Given the description of an element on the screen output the (x, y) to click on. 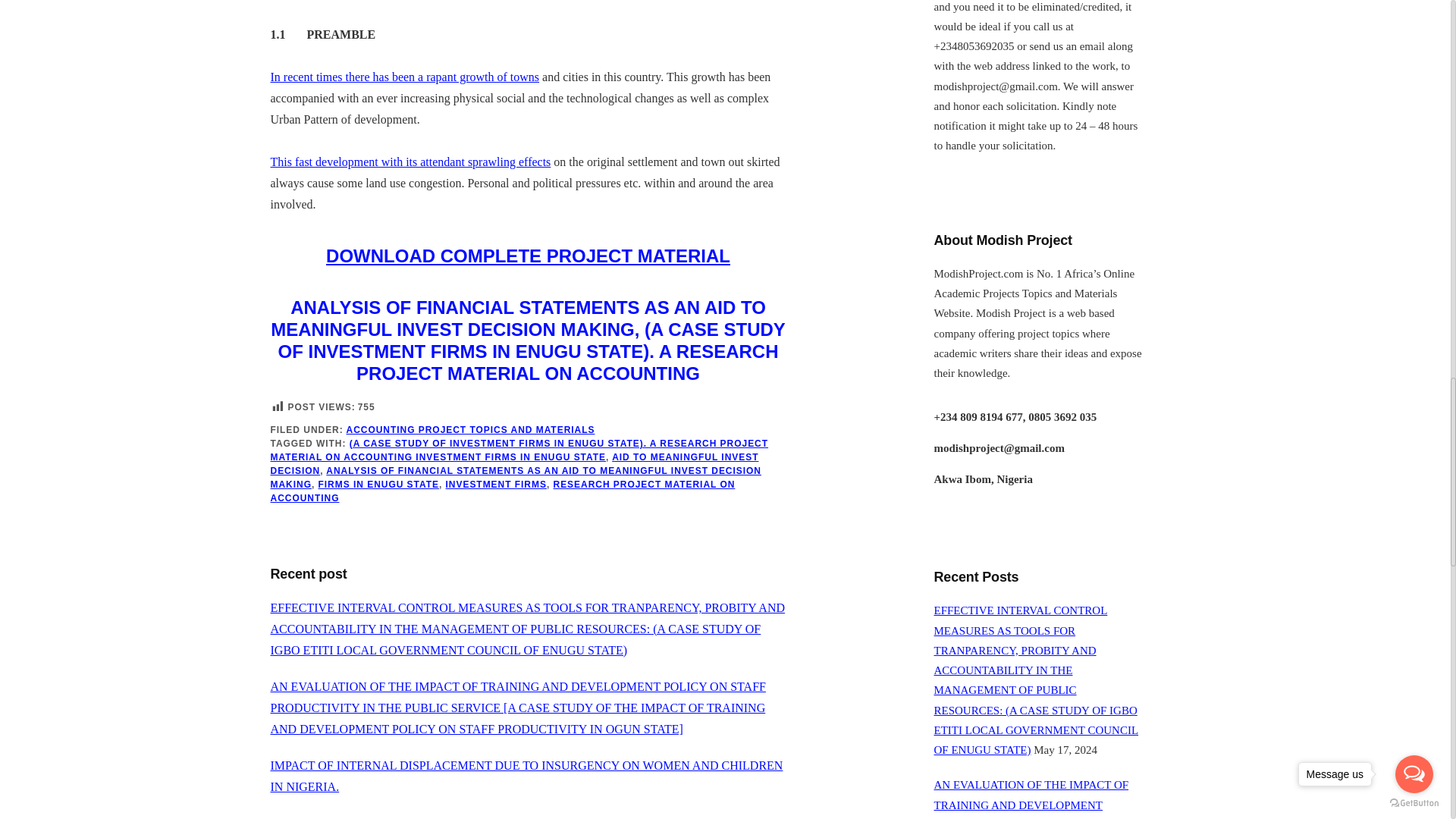
DOWNLOAD COMPLETE PROJECT MATERIAL (528, 255)
ACCOUNTING PROJECT TOPICS AND MATERIALS (470, 429)
RESEARCH PROJECT MATERIAL ON ACCOUNTING (502, 491)
AID TO MEANINGFUL INVEST DECISION (513, 463)
FIRMS IN ENUGU STATE (378, 484)
This fast development with its attendant sprawling effects (409, 161)
In recent times there has been a rapant growth of towns (403, 76)
INVESTMENT FIRMS (496, 484)
